Given the description of an element on the screen output the (x, y) to click on. 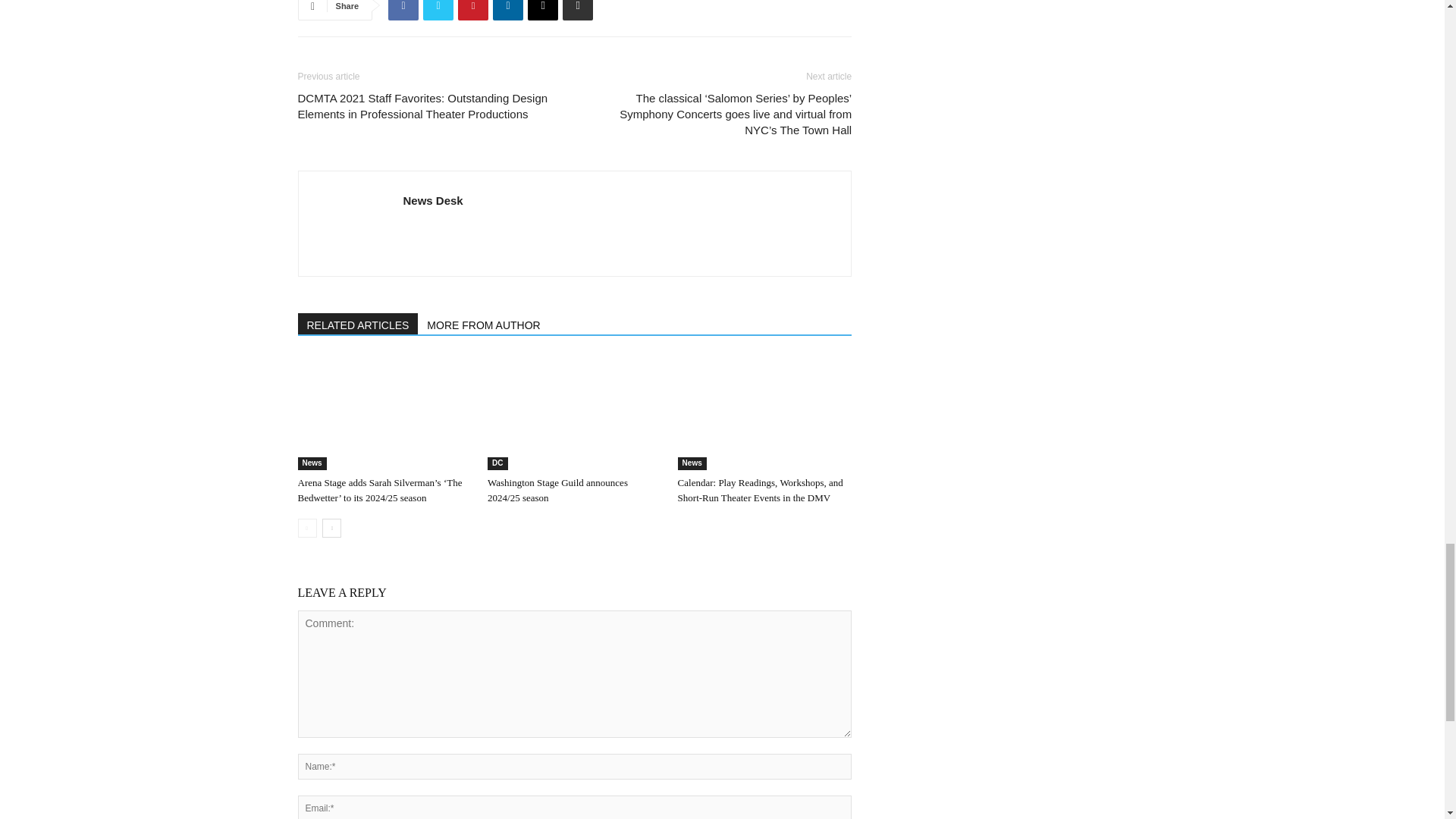
Pinterest (472, 10)
Twitter (437, 10)
Facebook (403, 10)
